Given the description of an element on the screen output the (x, y) to click on. 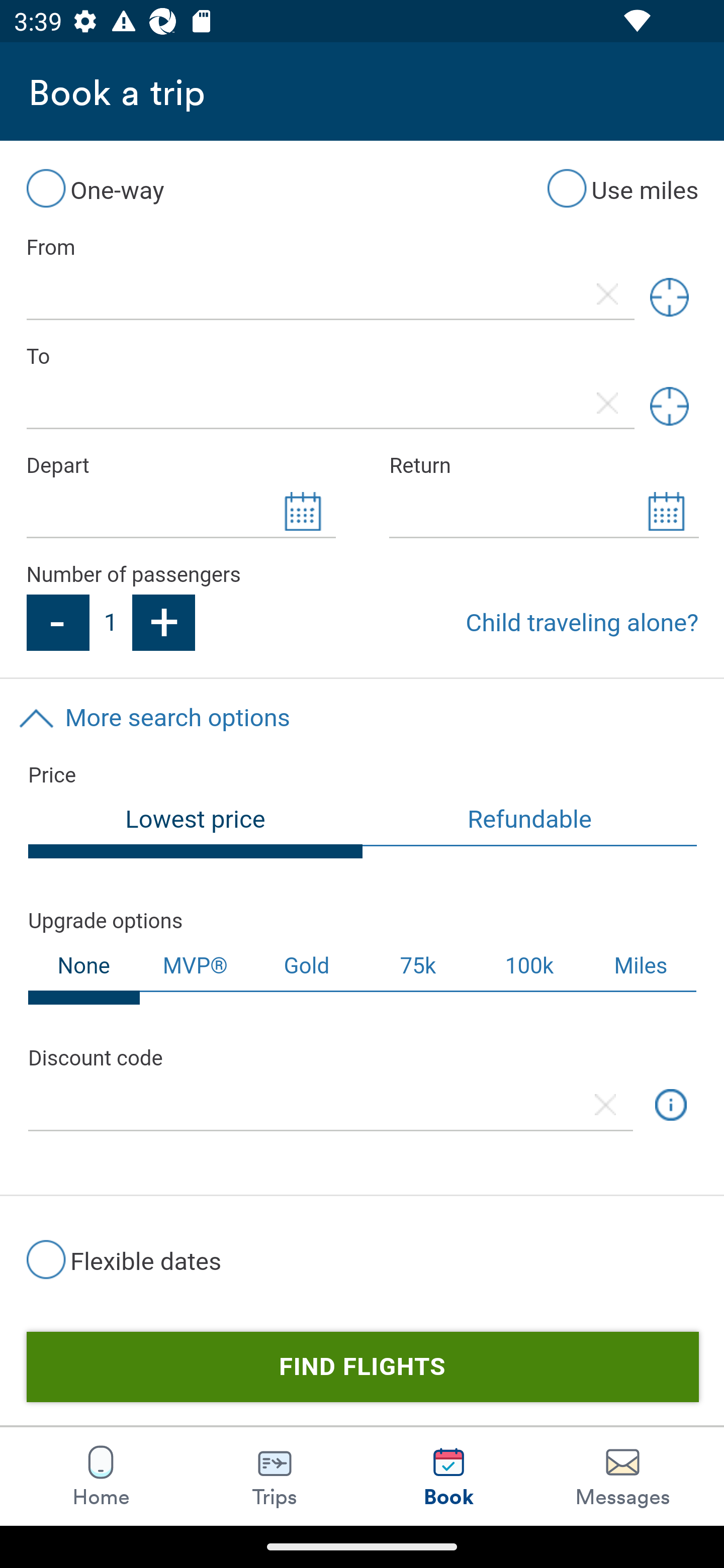
One-way (94, 187)
Use miles (622, 187)
Geolocation (669, 297)
Geolocation (669, 405)
Depart (179, 465)
Return (544, 465)
- (56, 622)
+ (163, 622)
Child traveling alone? (582, 622)
More search options (362, 717)
Lowest price (196, 826)
Refundable (530, 821)
None (84, 972)
MVP® (195, 966)
Gold (306, 966)
75k (417, 966)
100k (528, 966)
Miles (641, 966)
Find Flights (362, 1366)
Home (100, 1475)
Trips (275, 1475)
Book (448, 1475)
Messages (622, 1475)
